Given the description of an element on the screen output the (x, y) to click on. 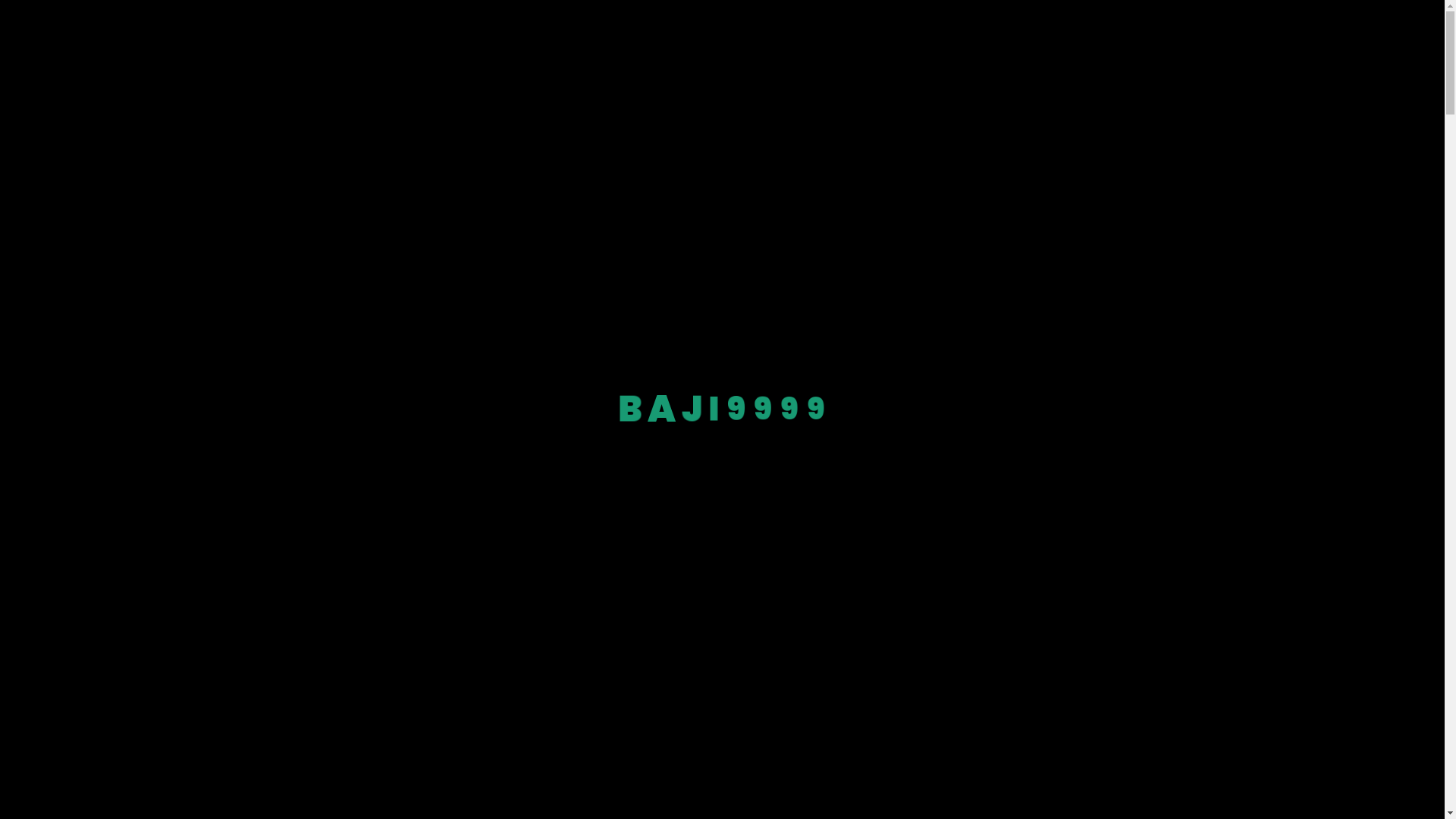
English Element type: text (1165, 33)
blackjack Element type: text (850, 241)
live casino Element type: text (679, 241)
baji999 logo Element type: hover (344, 34)
REGISTER Element type: text (721, 145)
HOME Element type: text (797, 34)
India's Element type: text (304, 241)
promotional Element type: text (528, 259)
baji999 Element type: text (252, 241)
online slots Element type: text (610, 241)
Baji casino Element type: text (562, 82)
Content
> Element type: text (721, 303)
